Given the description of an element on the screen output the (x, y) to click on. 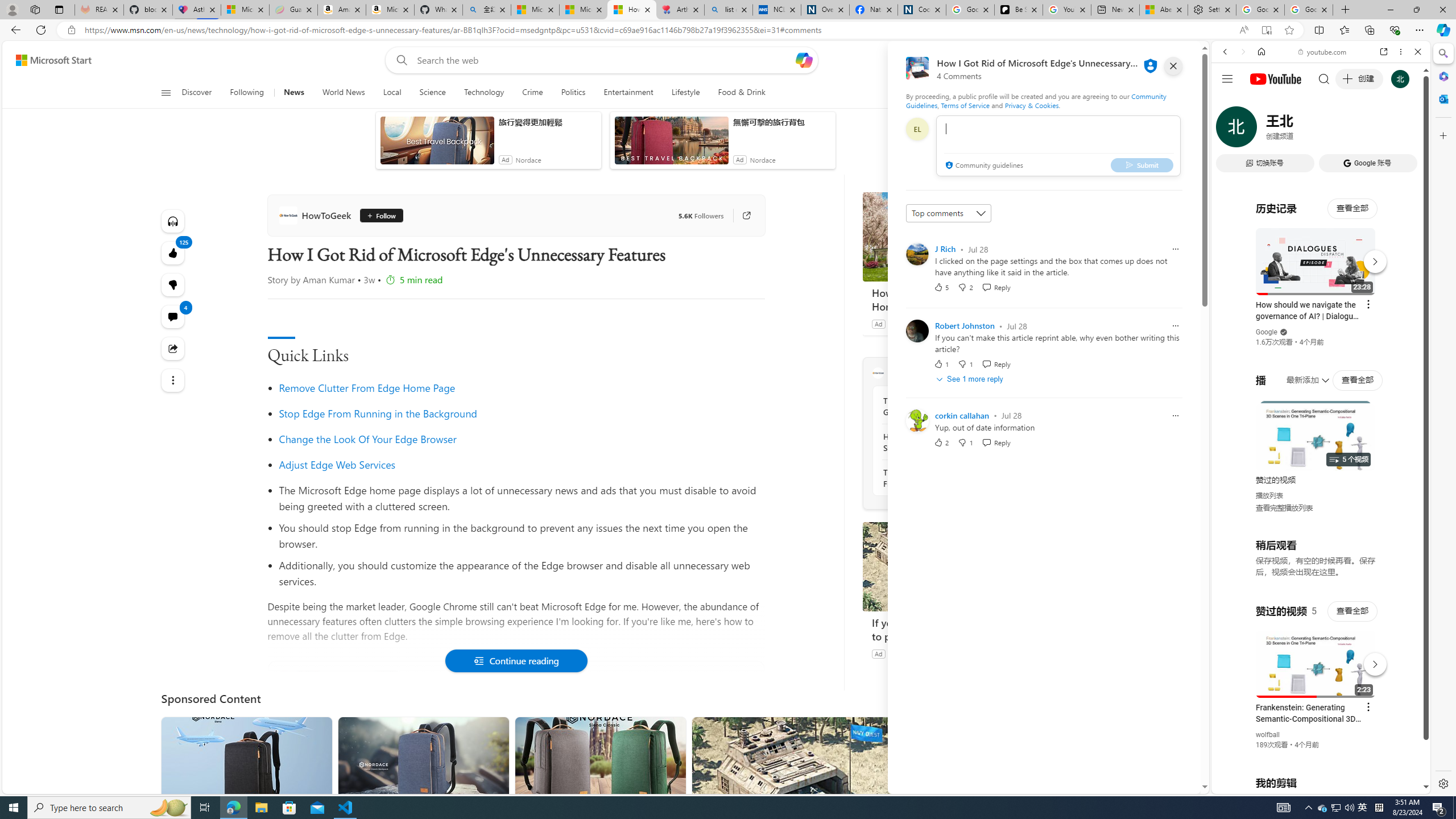
Class: button-glyph (165, 92)
Class: dict_pnIcon rms_img (1312, 784)
View comments 4 Comment (172, 316)
Science (432, 92)
Search Filter, VIDEOS (1300, 129)
News (293, 92)
Entertainment (627, 92)
Profile Picture (916, 420)
Close Customize pane (1442, 135)
Reply Reply Comment (995, 441)
Share this story (172, 348)
Ad Choice (1020, 653)
